Given the description of an element on the screen output the (x, y) to click on. 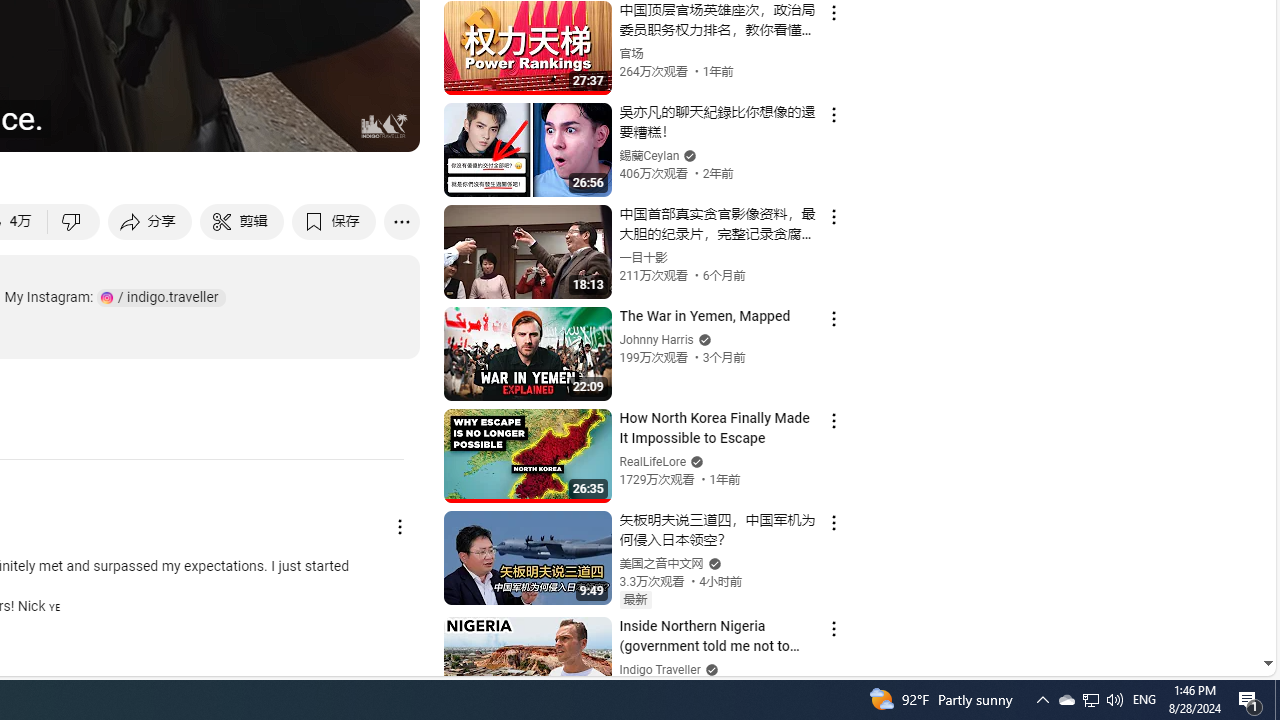
Class: ytp-subtitles-button-icon (190, 127)
